Given the description of an element on the screen output the (x, y) to click on. 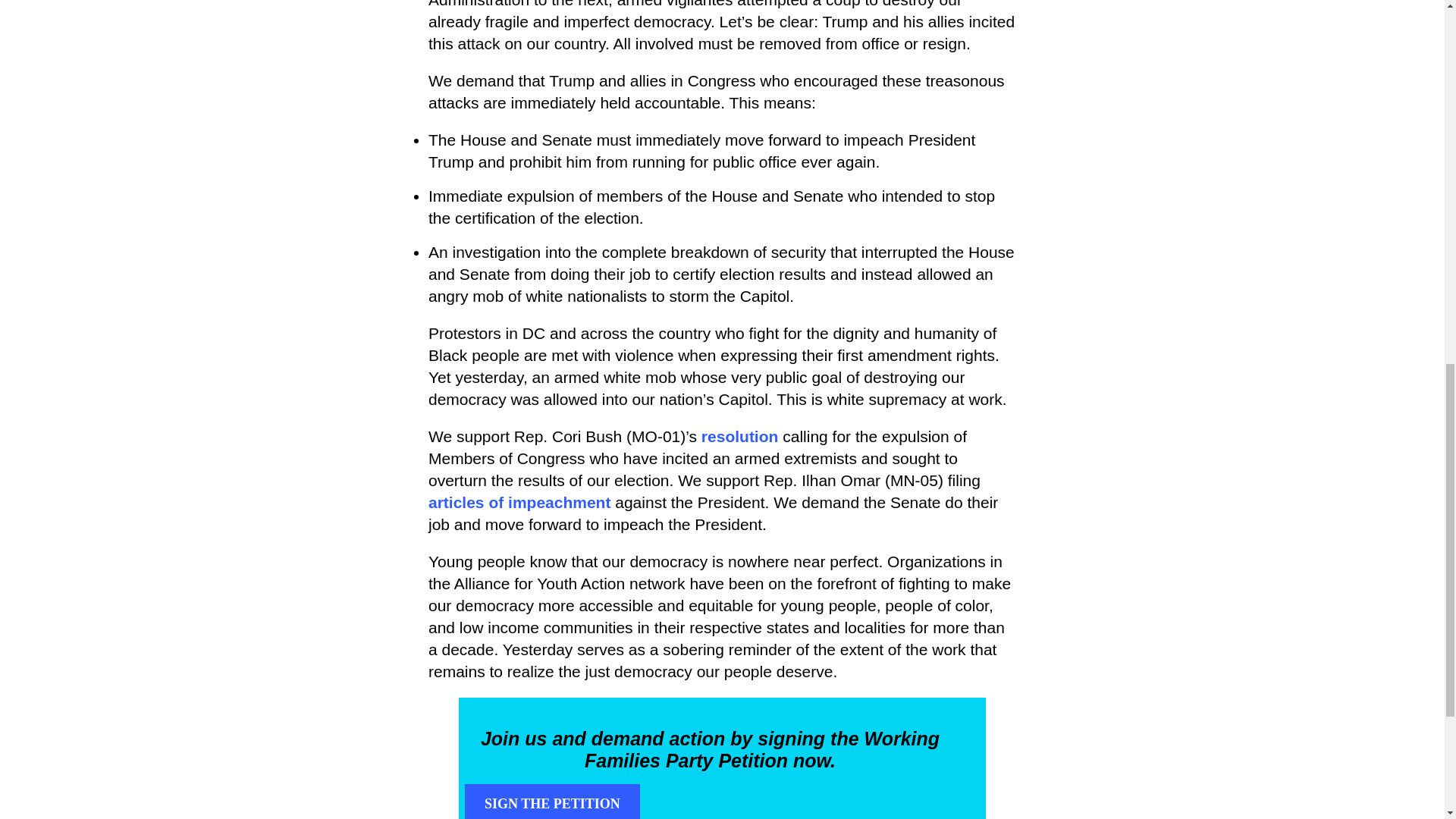
resolution (739, 437)
SIGN THE PETITION (552, 801)
articles of impeachment (703, 514)
